Given the description of an element on the screen output the (x, y) to click on. 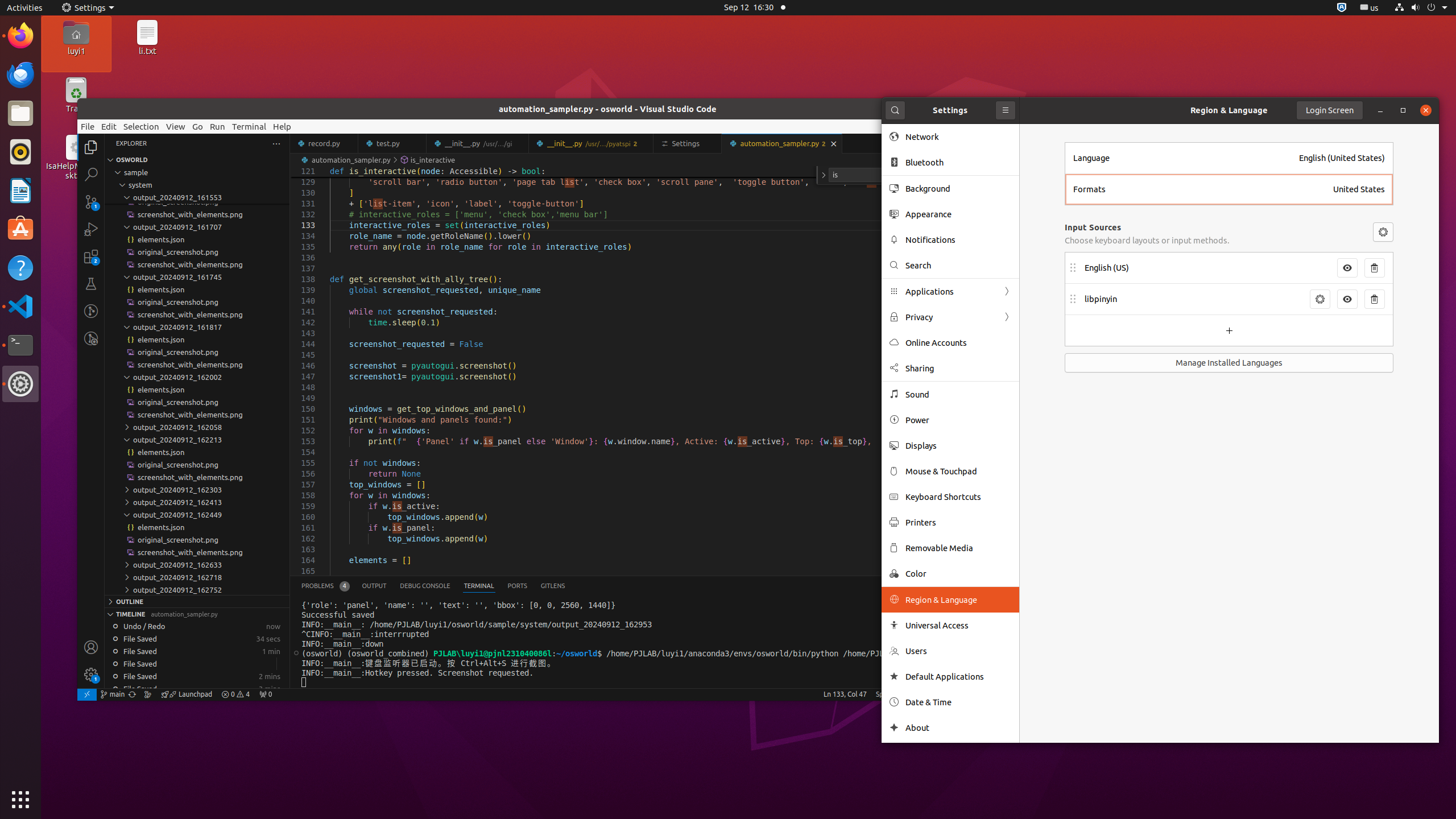
Settings Element type: menu (87, 7)
Forward Element type: icon (1006, 316)
Choose keyboard layouts or input methods. Element type: label (1146, 240)
Applications Element type: label (950, 291)
Privacy Element type: label (950, 316)
